Given the description of an element on the screen output the (x, y) to click on. 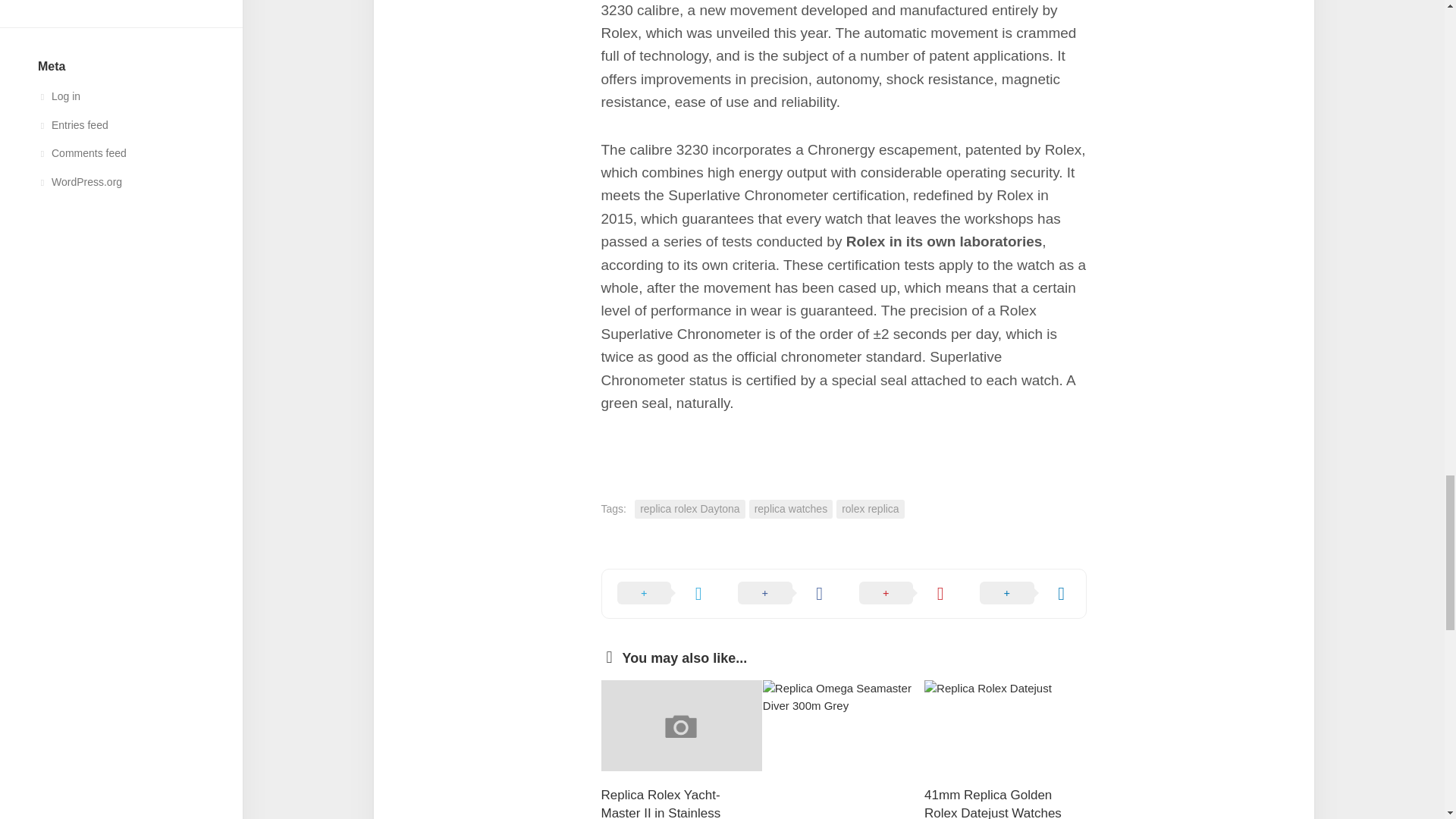
Share on Pinterest (903, 593)
Share on Facebook (783, 593)
Share on X (662, 593)
Share on LinkedIn (1024, 593)
